Given the description of an element on the screen output the (x, y) to click on. 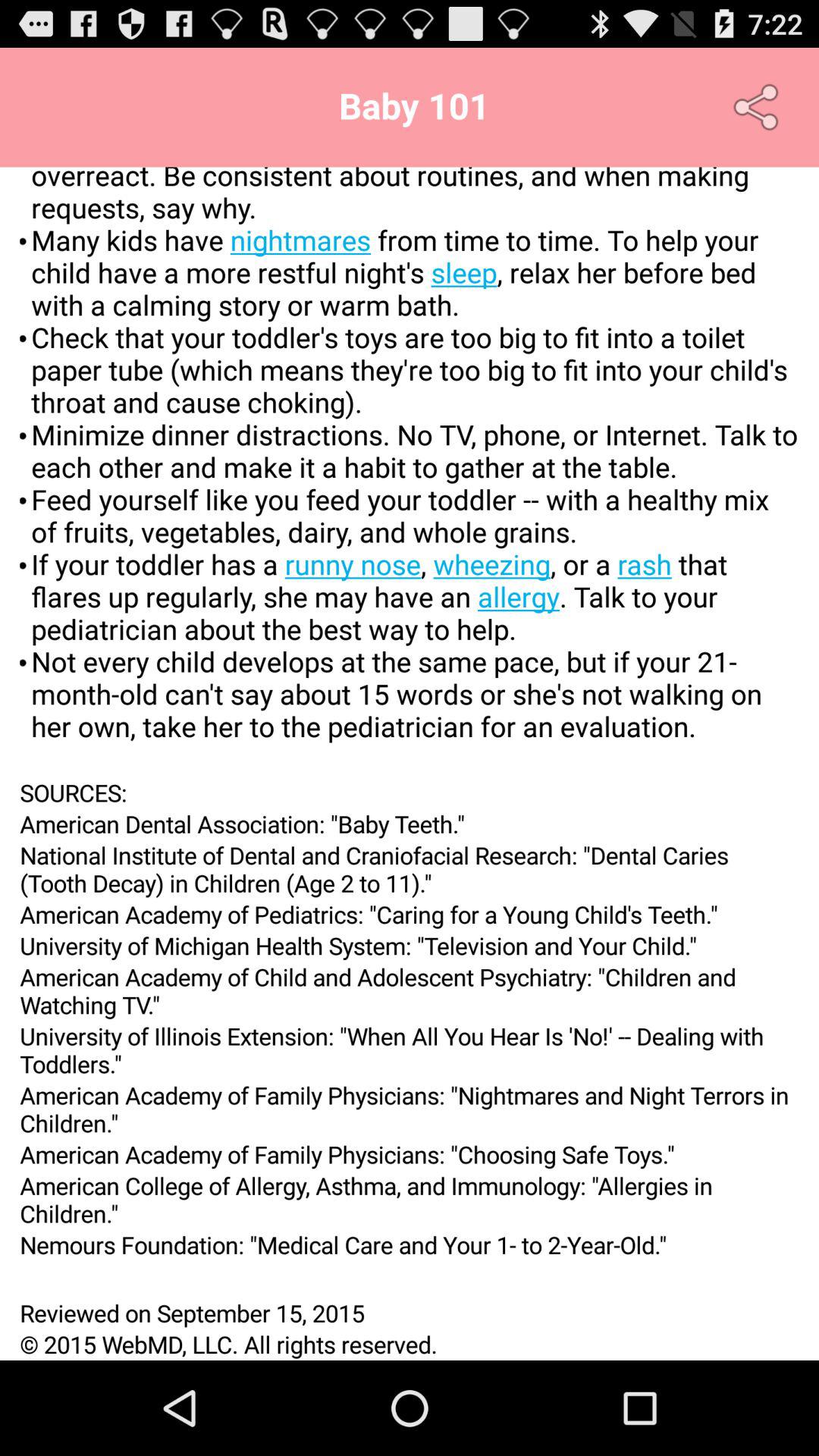
press the american dental association app (409, 824)
